Given the description of an element on the screen output the (x, y) to click on. 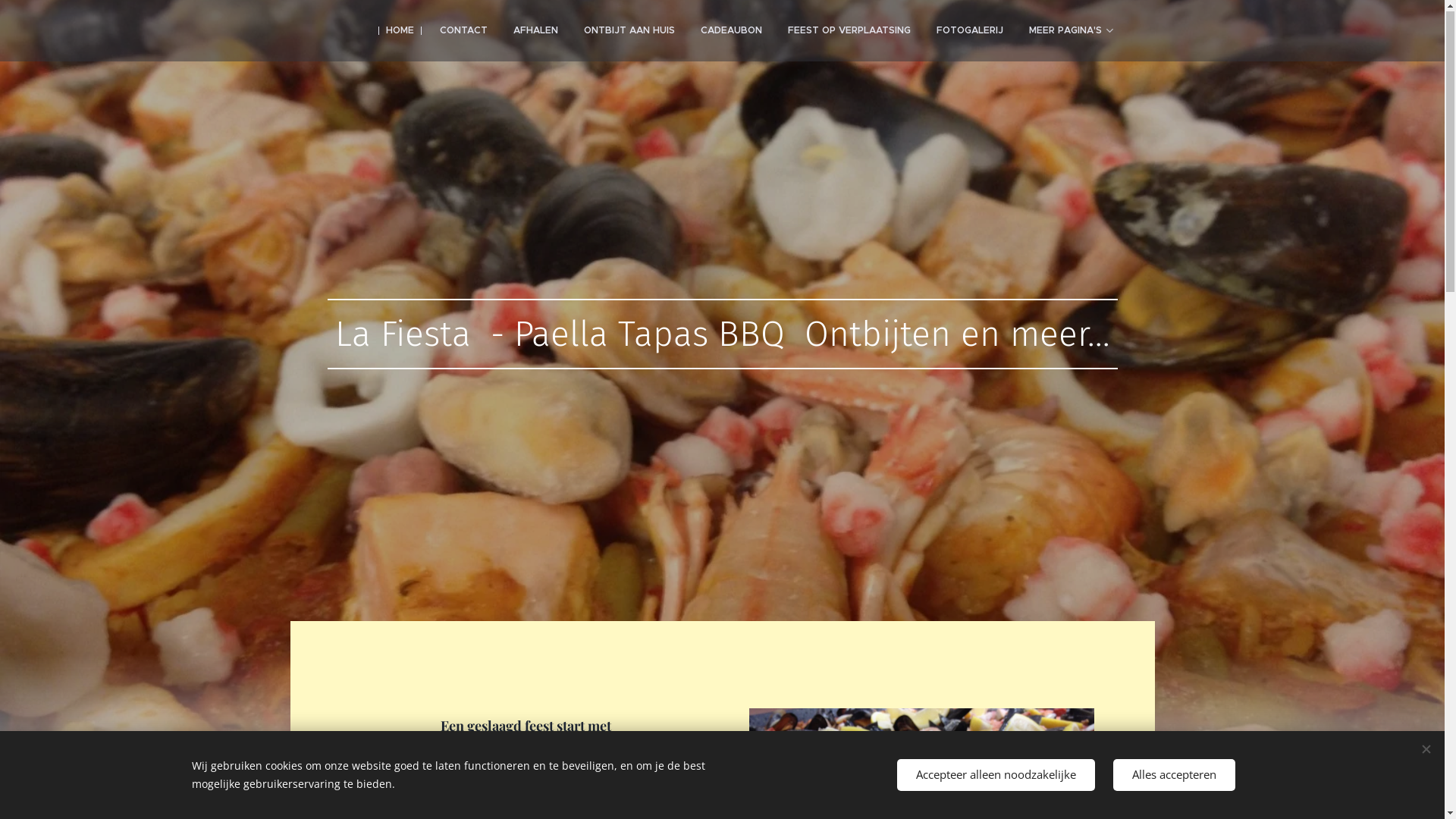
HOME Element type: text (399, 31)
Accepteer alleen noodzakelijke Element type: text (995, 774)
FOTOGALERIJ Element type: text (969, 31)
CADEAUBON Element type: text (730, 31)
Alles accepteren Element type: text (1174, 774)
CONTACT Element type: text (462, 31)
AFHALEN Element type: text (535, 31)
ONTBIJT AAN HUIS Element type: text (628, 31)
MEER PAGINA'S Element type: text (1070, 31)
FEEST OP VERPLAATSING Element type: text (849, 31)
